Given the description of an element on the screen output the (x, y) to click on. 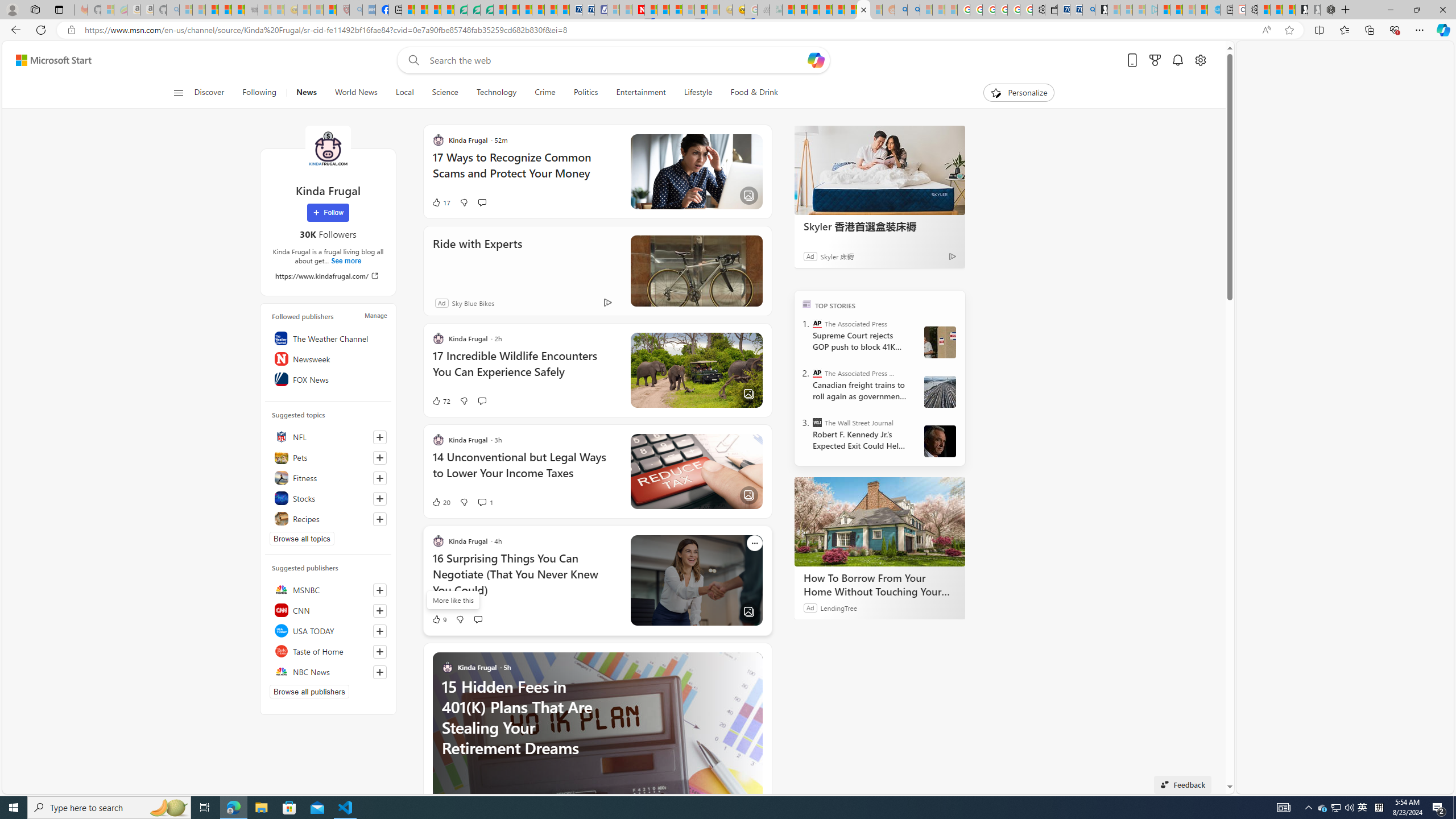
The Associated Press (816, 323)
Robert H. Shmerling, MD - Harvard Health - Sleeping (342, 9)
Open navigation menu (177, 92)
Microsoft account | Privacy (801, 9)
NBC News (327, 671)
News (306, 92)
Kinda Frugal (327, 148)
